Given the description of an element on the screen output the (x, y) to click on. 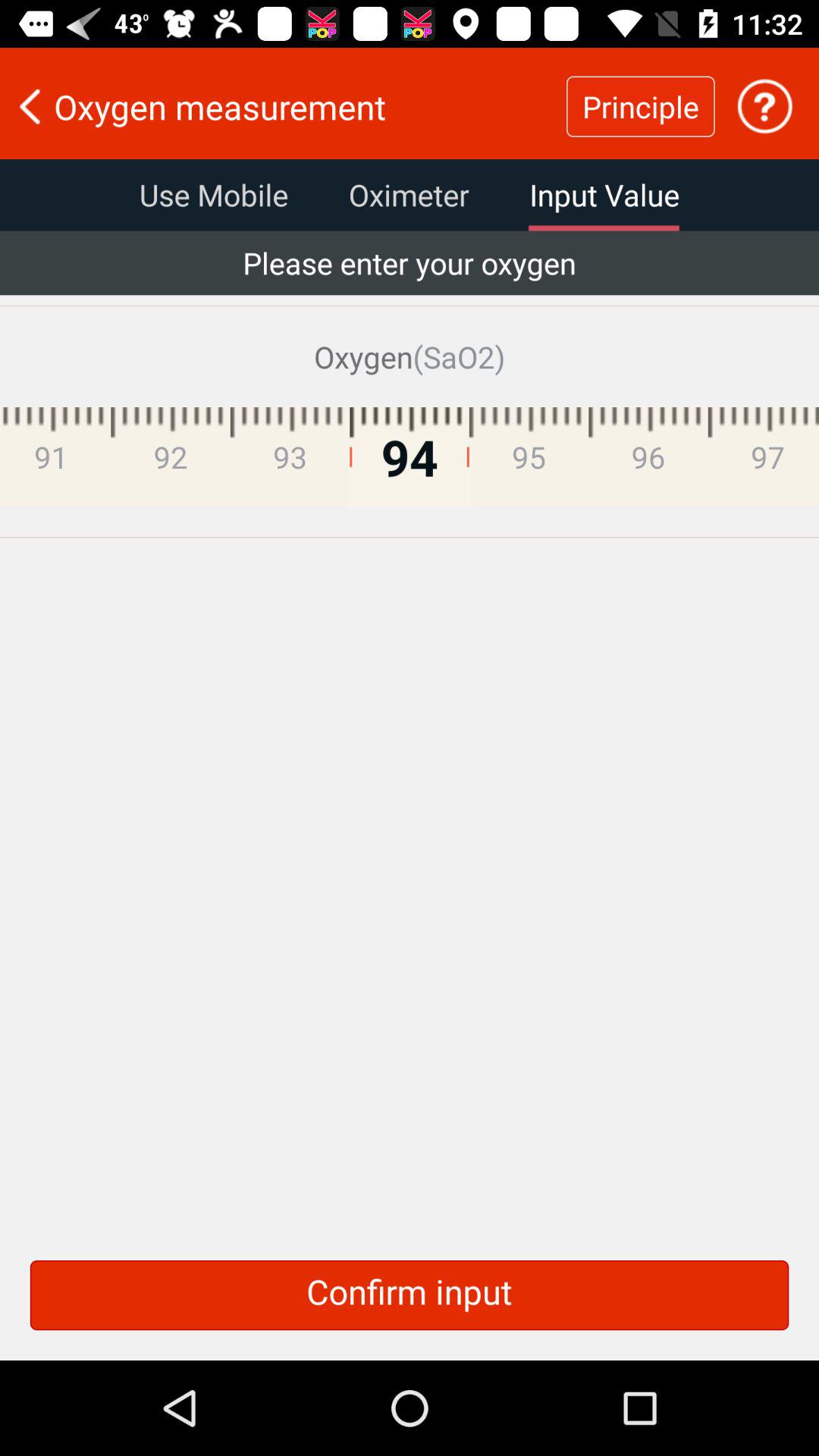
help (764, 106)
